Given the description of an element on the screen output the (x, y) to click on. 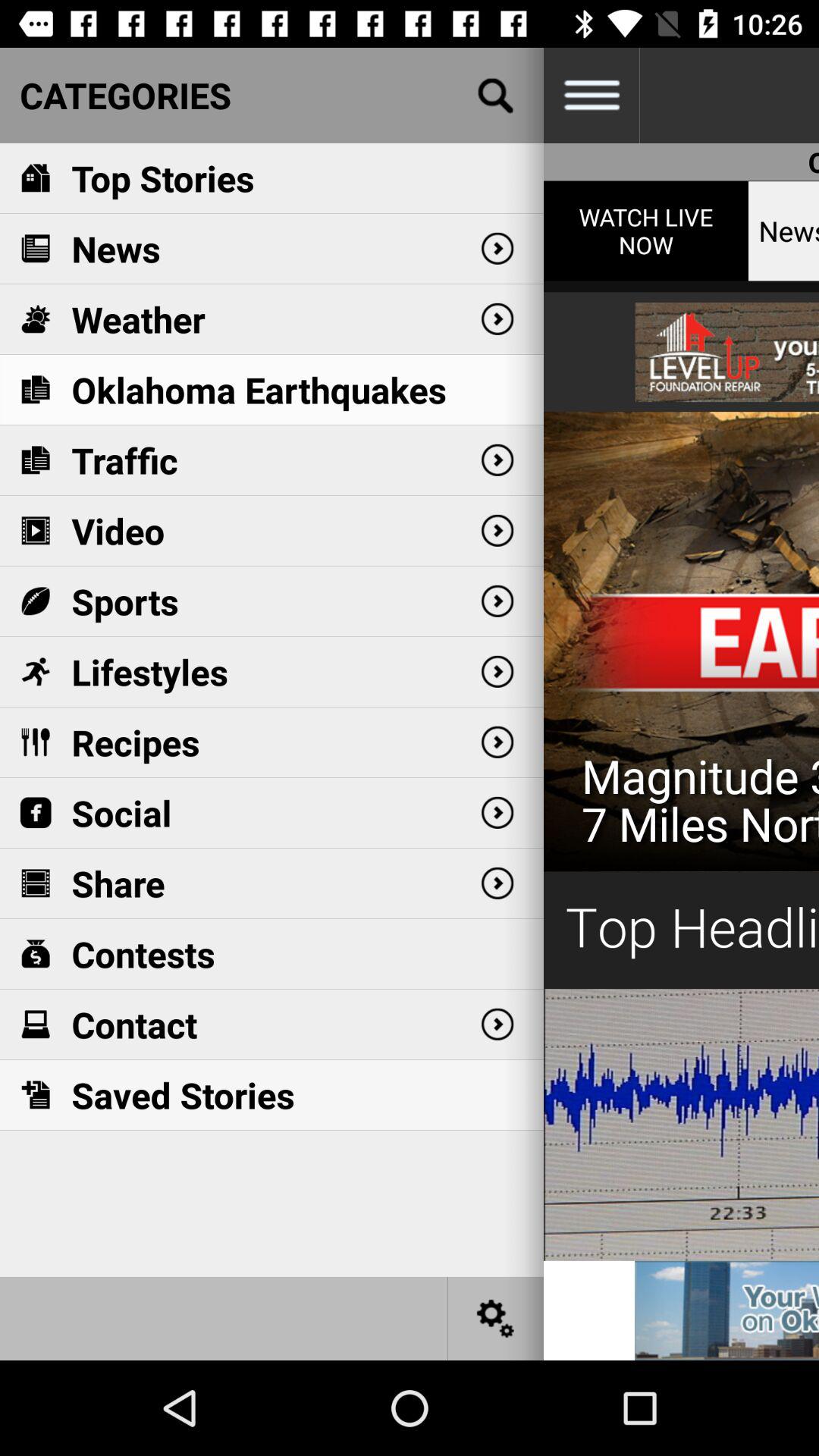
select advertisement (681, 720)
